Given the description of an element on the screen output the (x, y) to click on. 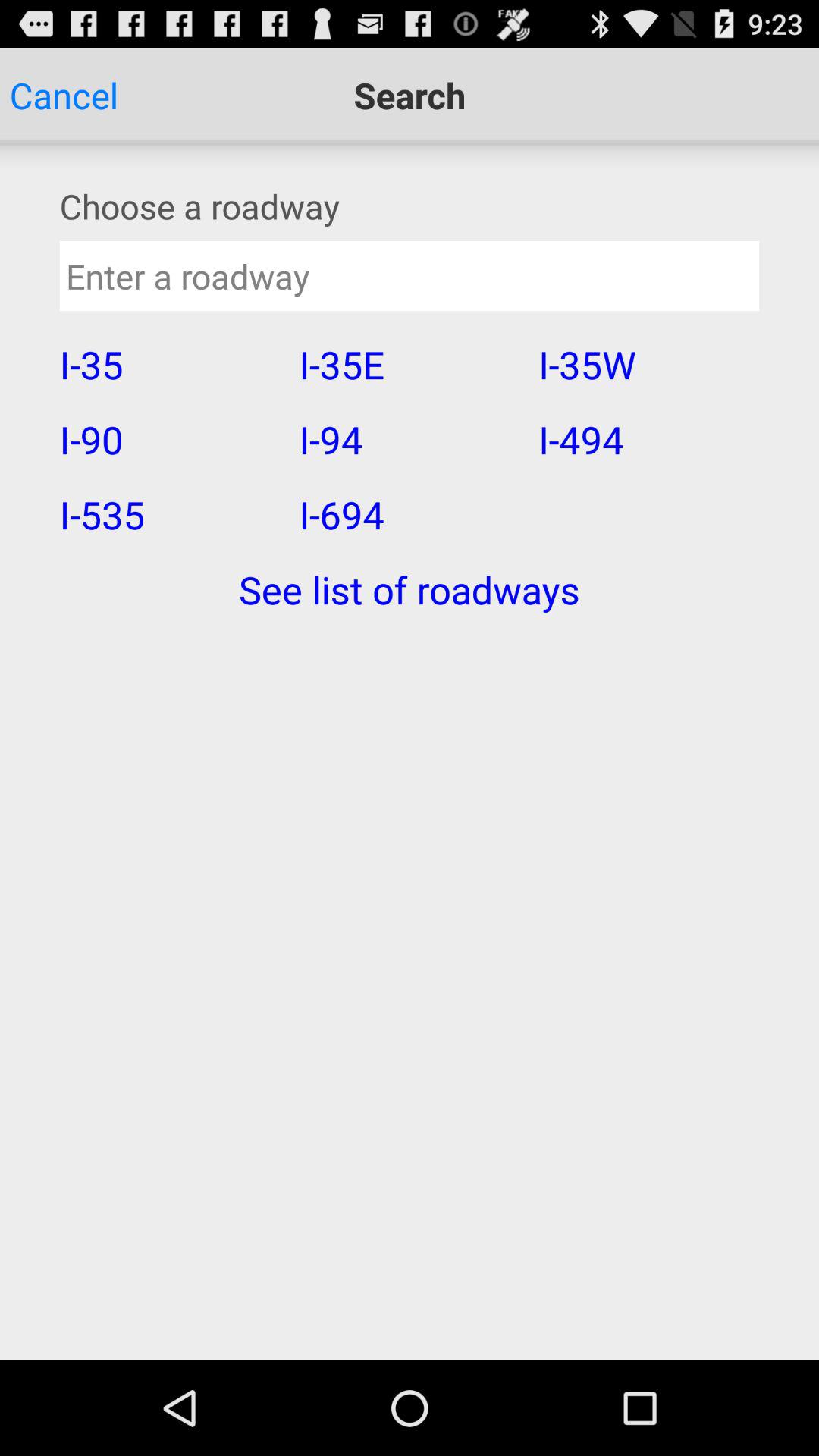
launch the icon to the right of i-35 (408, 439)
